Given the description of an element on the screen output the (x, y) to click on. 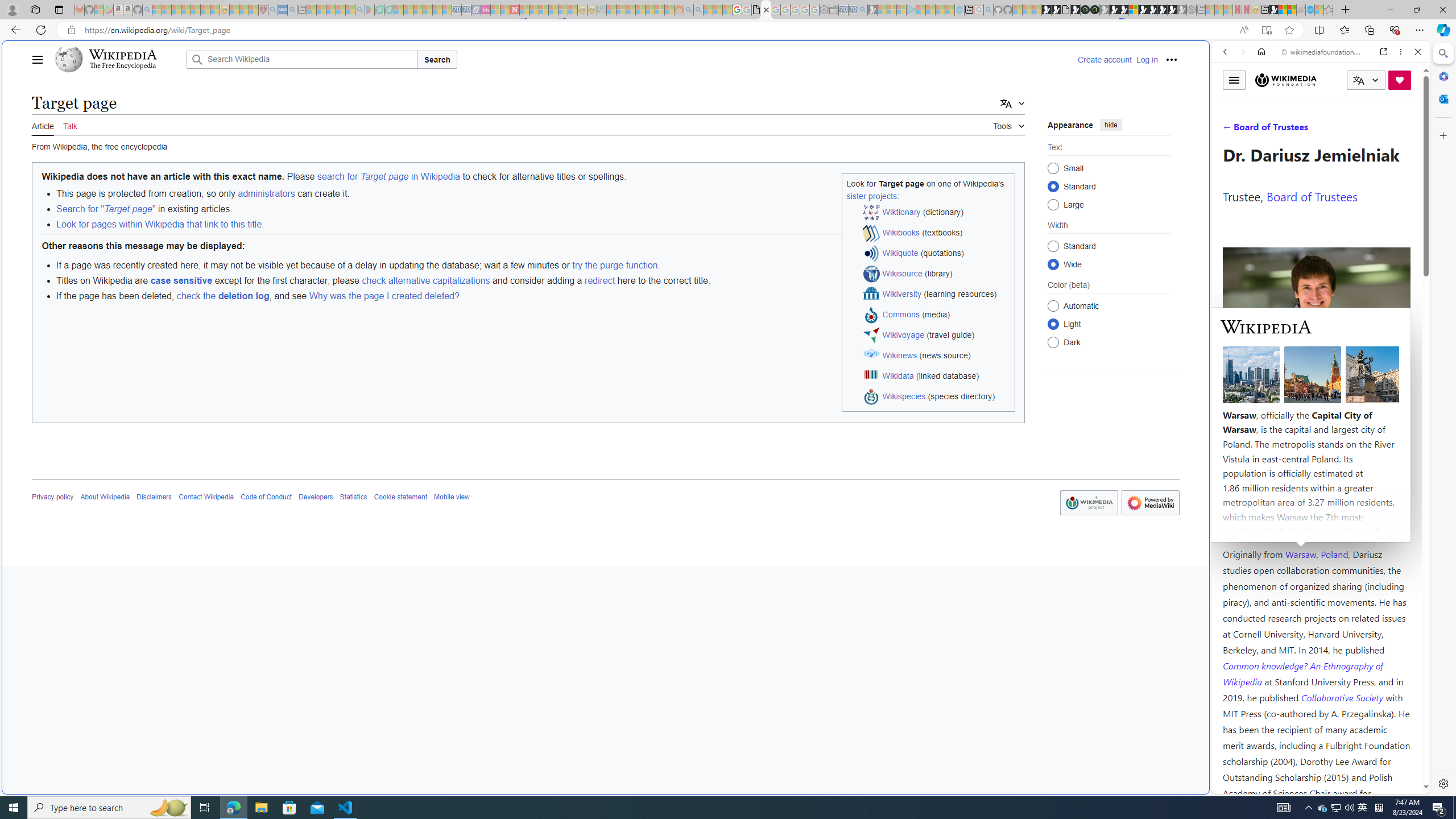
sister projects (870, 195)
CURRENT LANGUAGE: (1366, 80)
case sensitive (180, 280)
Donate now (1399, 80)
search for Target page in Wikipedia (388, 176)
Search for "Target page" in existing articles. (534, 209)
utah sues federal government - Search - Sleeping (291, 9)
redirect (599, 280)
Earth has six continents not seven, radical new study claims (1291, 9)
